Given the description of an element on the screen output the (x, y) to click on. 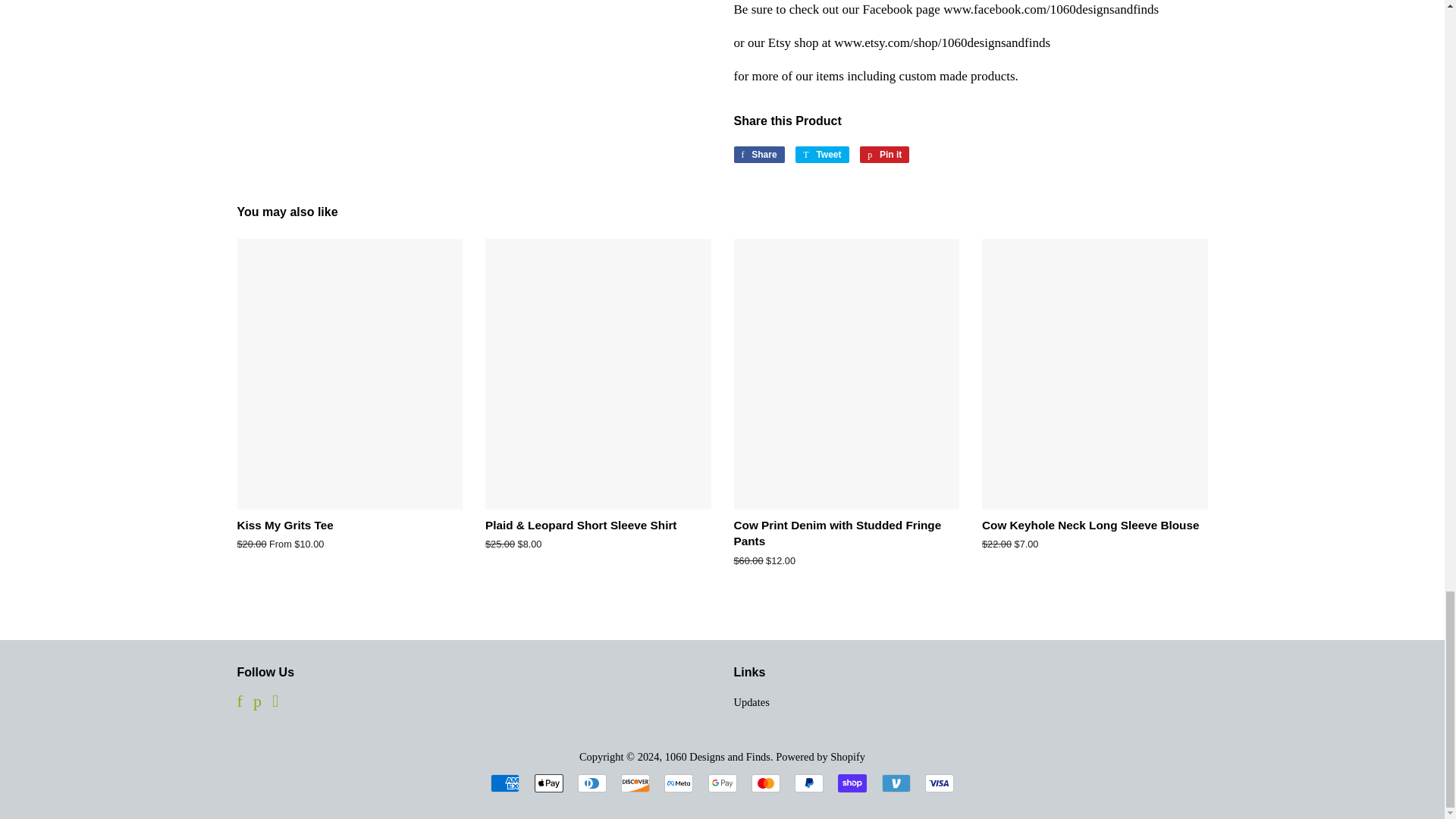
Mastercard (765, 782)
Meta Pay (758, 154)
Pin on Pinterest (678, 782)
Diners Club (884, 154)
Apple Pay (592, 782)
Discover (821, 154)
Google Pay (548, 782)
Shop Pay (635, 782)
Share on Facebook (884, 154)
PayPal (721, 782)
Visa (852, 782)
Venmo (758, 154)
